Given the description of an element on the screen output the (x, y) to click on. 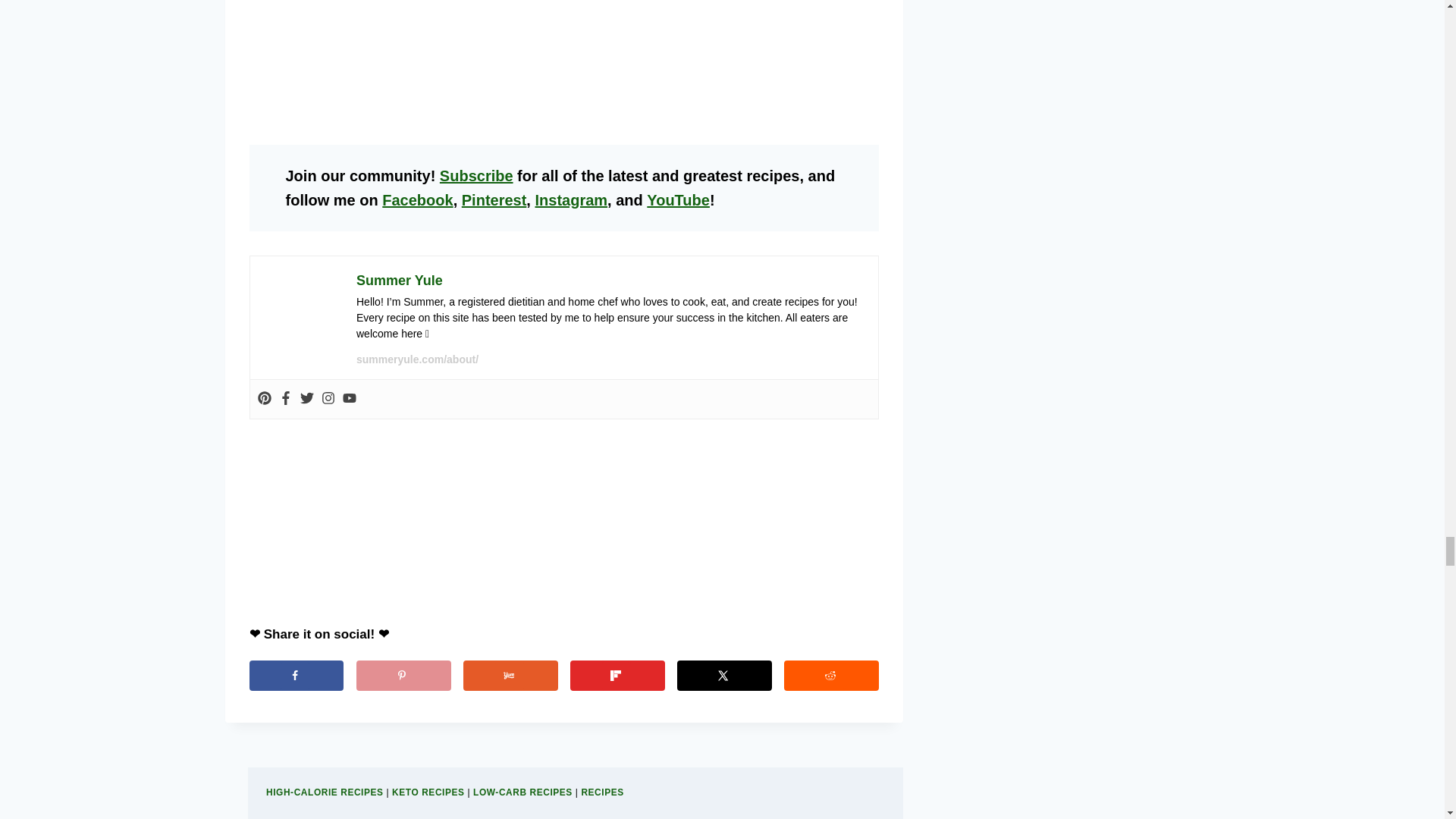
Share on Flipboard (616, 675)
Save to Pinterest (402, 675)
Share on Reddit (830, 675)
Share on X (724, 675)
Share on Facebook (295, 675)
Share on Yummly (510, 675)
